Given the description of an element on the screen output the (x, y) to click on. 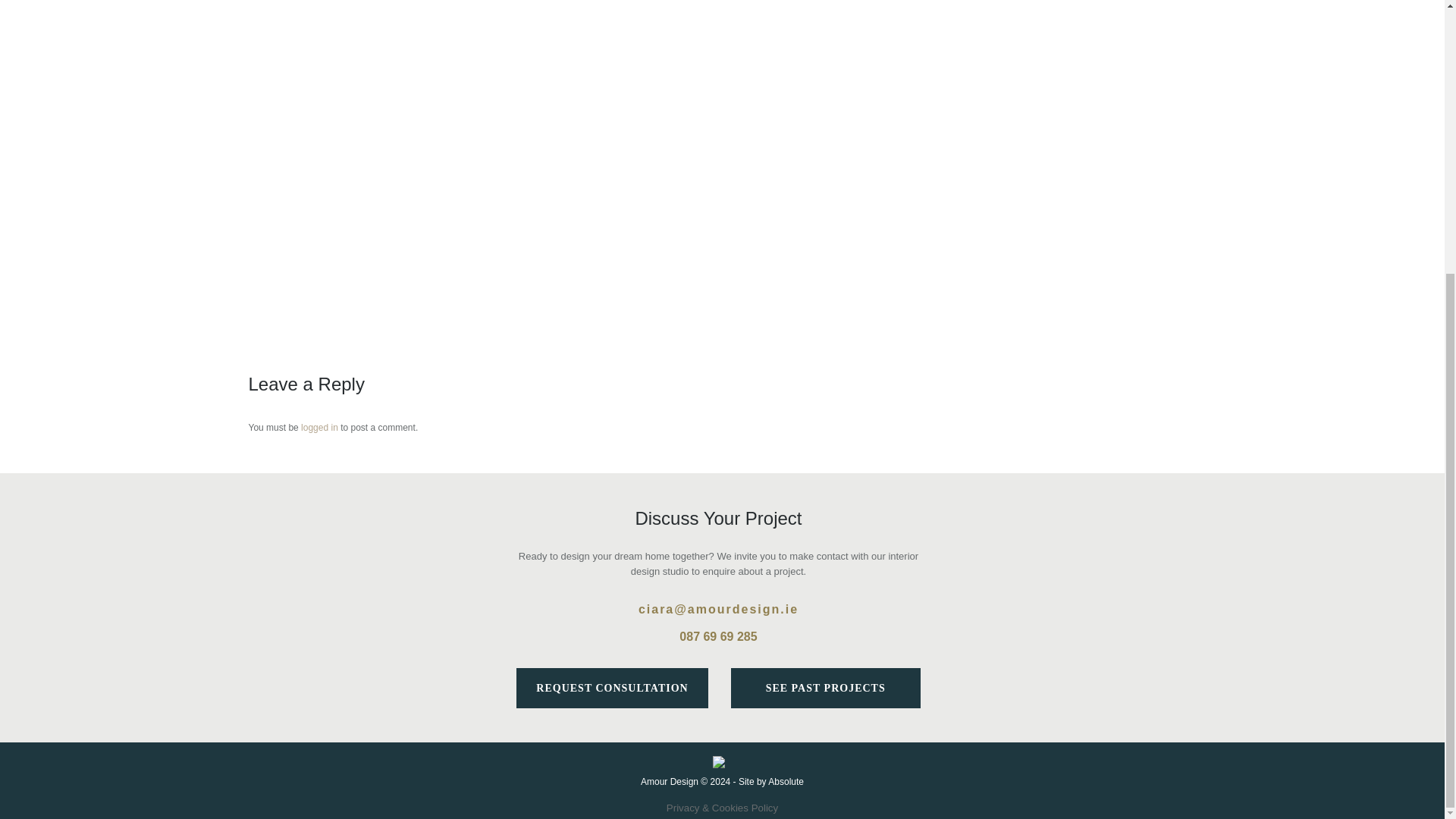
logged in (319, 427)
Request Consultation (611, 688)
Designed and Built by Absolute (785, 781)
REQUEST CONSULTATION (611, 688)
Absolute (785, 781)
087 69 69 285 (718, 635)
SEE PAST PROJECTS (825, 688)
See Past Projects (825, 688)
